Given the description of an element on the screen output the (x, y) to click on. 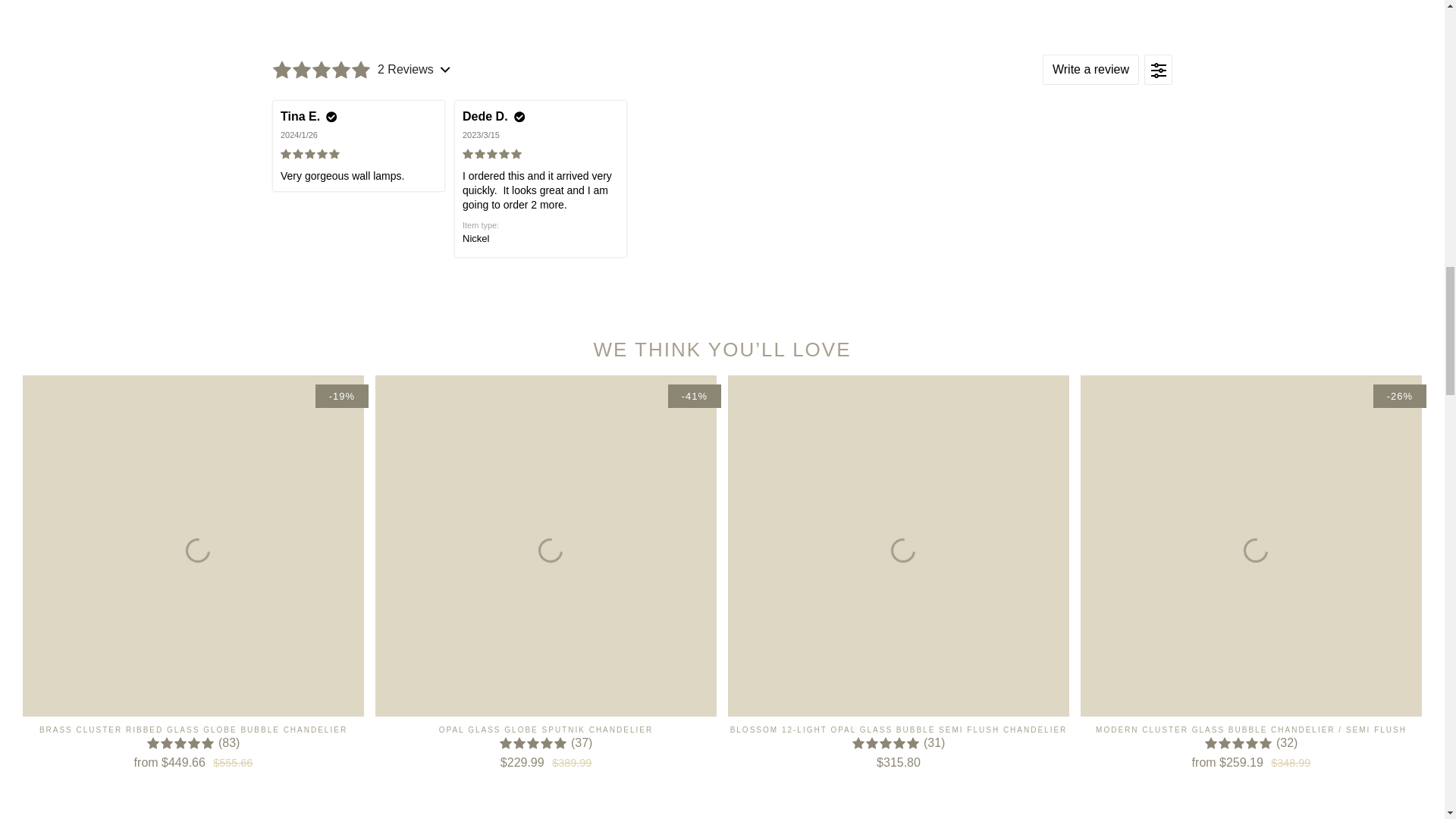
Brass Cluster Ribbed Glass Globe Bubble Chandelier (193, 545)
Opal Glass Globe Sputnik Chandelier (545, 545)
Opal Glass Globe Sputnik Chandelier (545, 747)
Blossom 12-Light Opal Glass Bubble Semi Flush Chandelier (898, 747)
Brass Cluster Ribbed Glass Globe Bubble Chandelier (193, 747)
Blossom 12-Light Opal Glass Bubble Semi Flush Chandelier (898, 545)
